Given the description of an element on the screen output the (x, y) to click on. 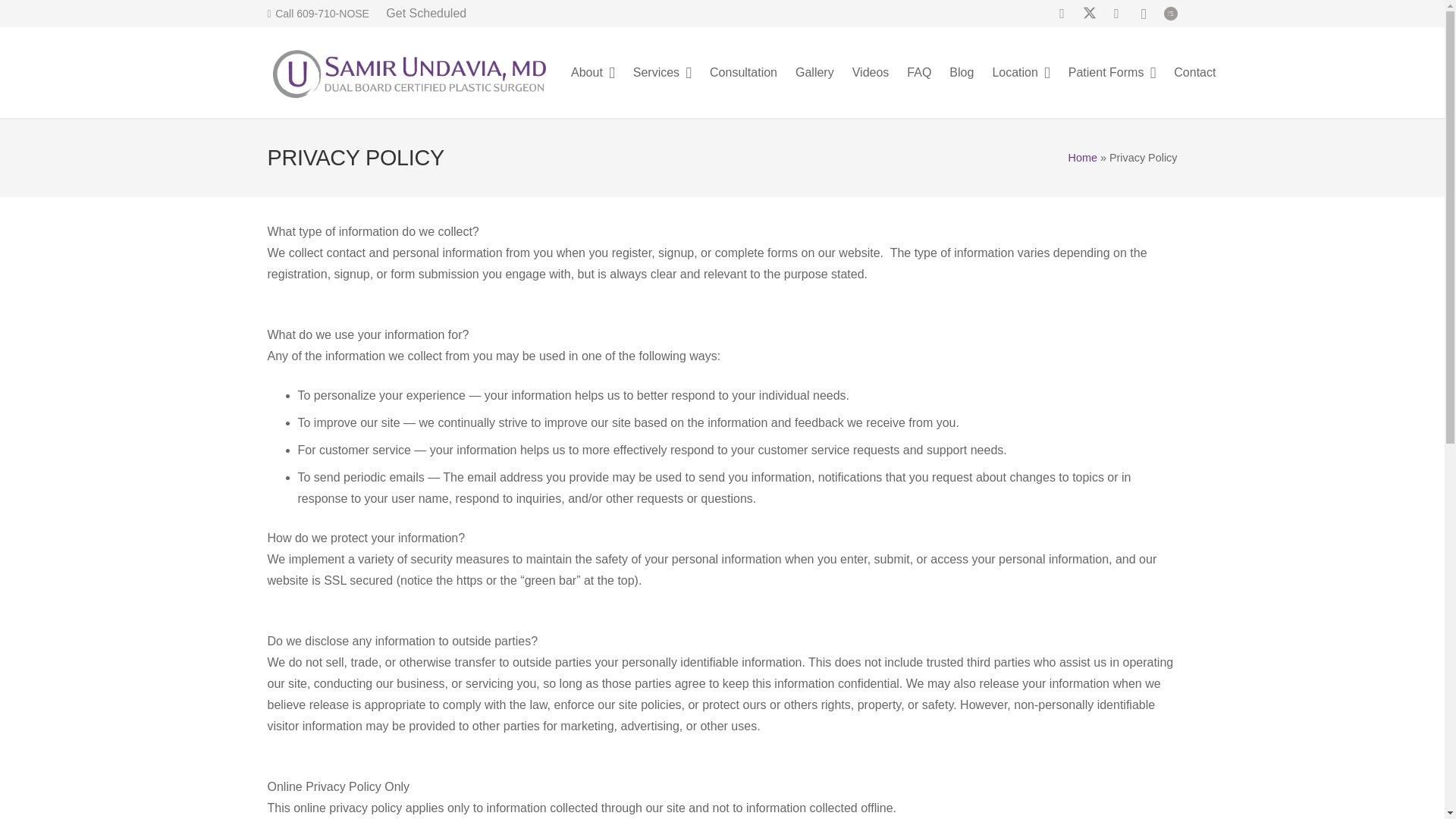
Consultation (743, 72)
Twitter (1089, 13)
Facebook (1061, 13)
Instagram (1144, 13)
Google (1117, 13)
